Given the description of an element on the screen output the (x, y) to click on. 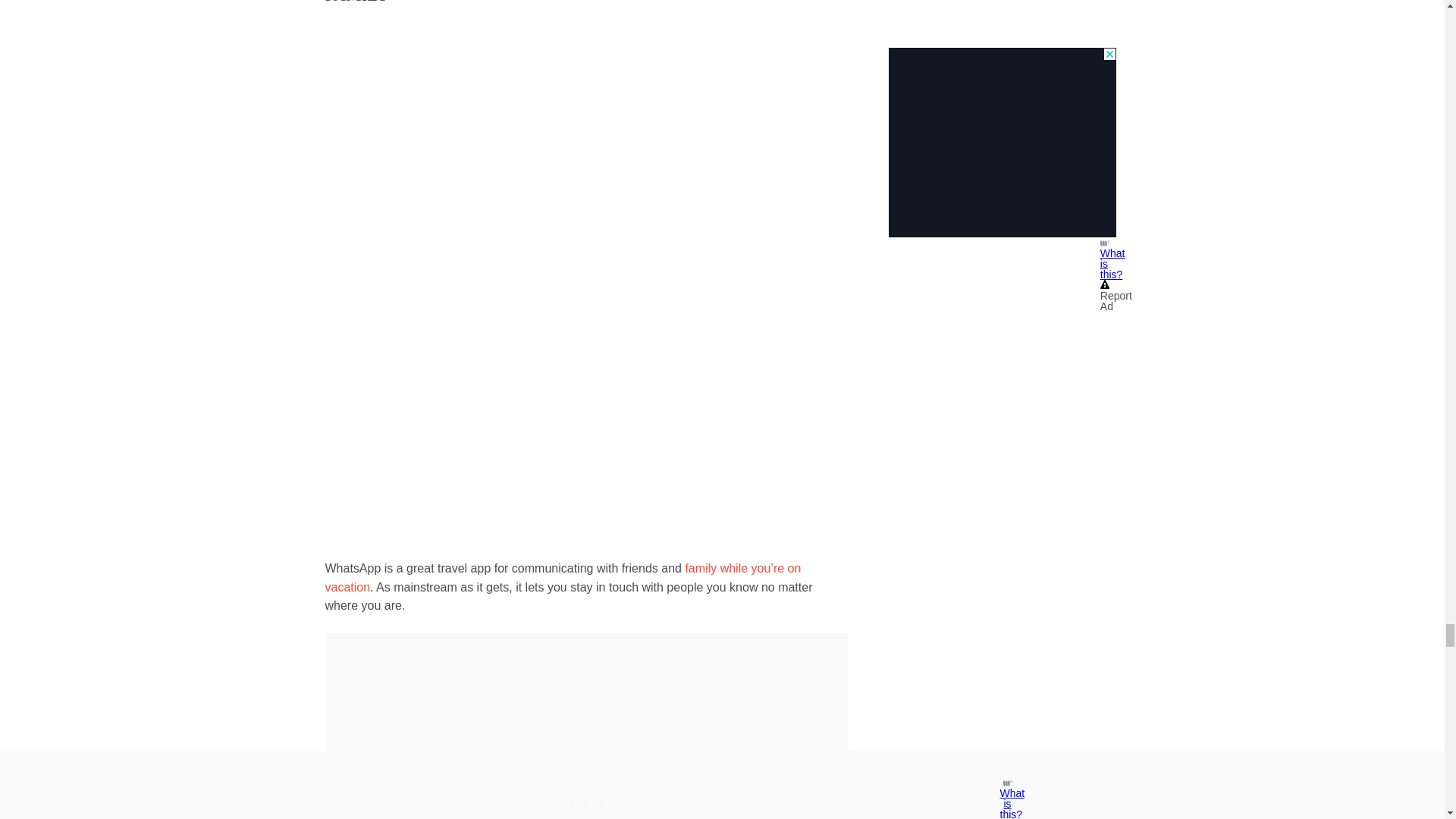
10 Best Family-Friendly Destinations in California (562, 576)
